Given the description of an element on the screen output the (x, y) to click on. 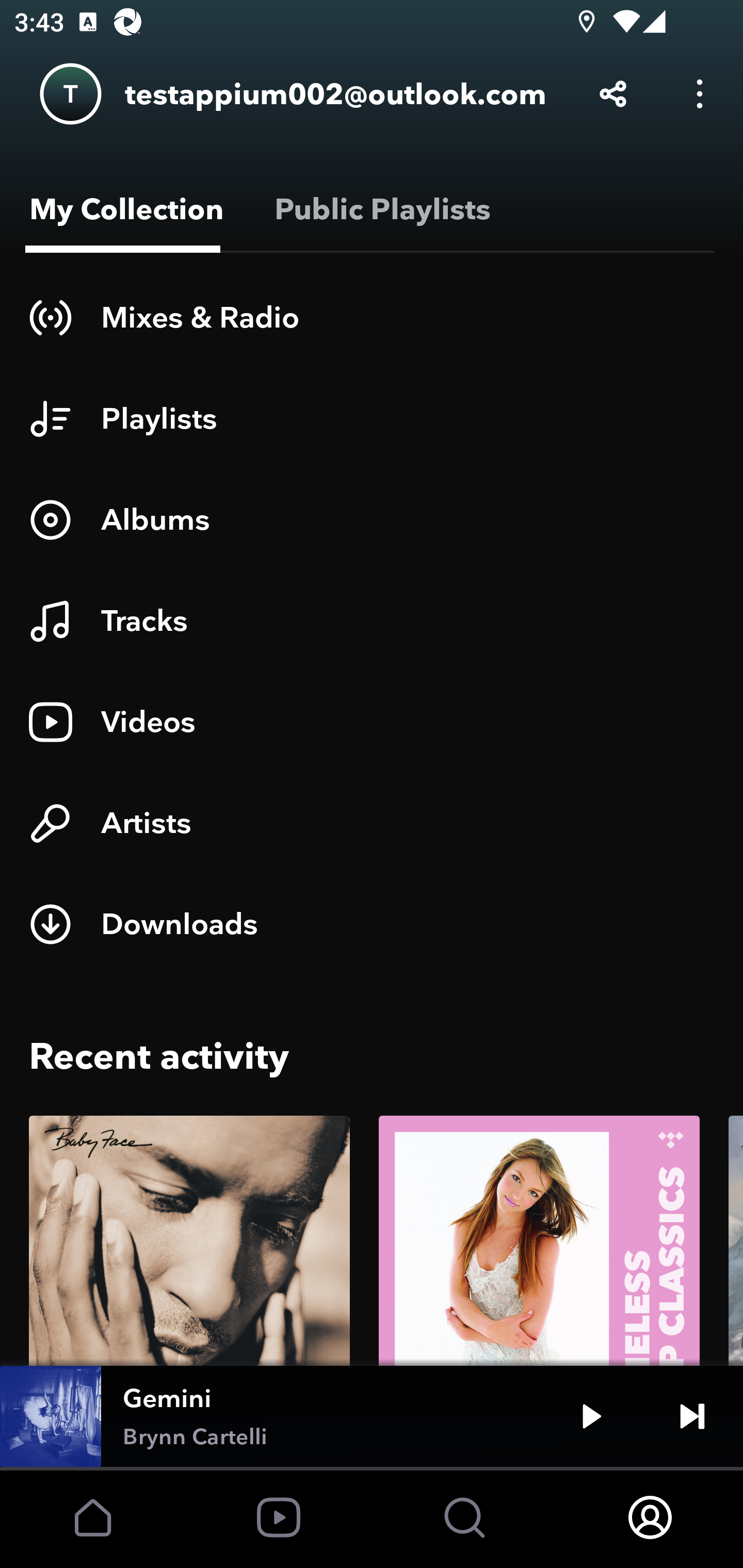
Share (612, 93)
Options (699, 93)
Public Playlists (378, 209)
Mixes & Radio (371, 317)
Playlists (371, 418)
Albums (371, 519)
Tracks (371, 620)
Videos (371, 722)
Artists (371, 823)
Downloads (371, 924)
Gemini Brynn Cartelli Play (371, 1416)
Play (590, 1416)
